Given the description of an element on the screen output the (x, y) to click on. 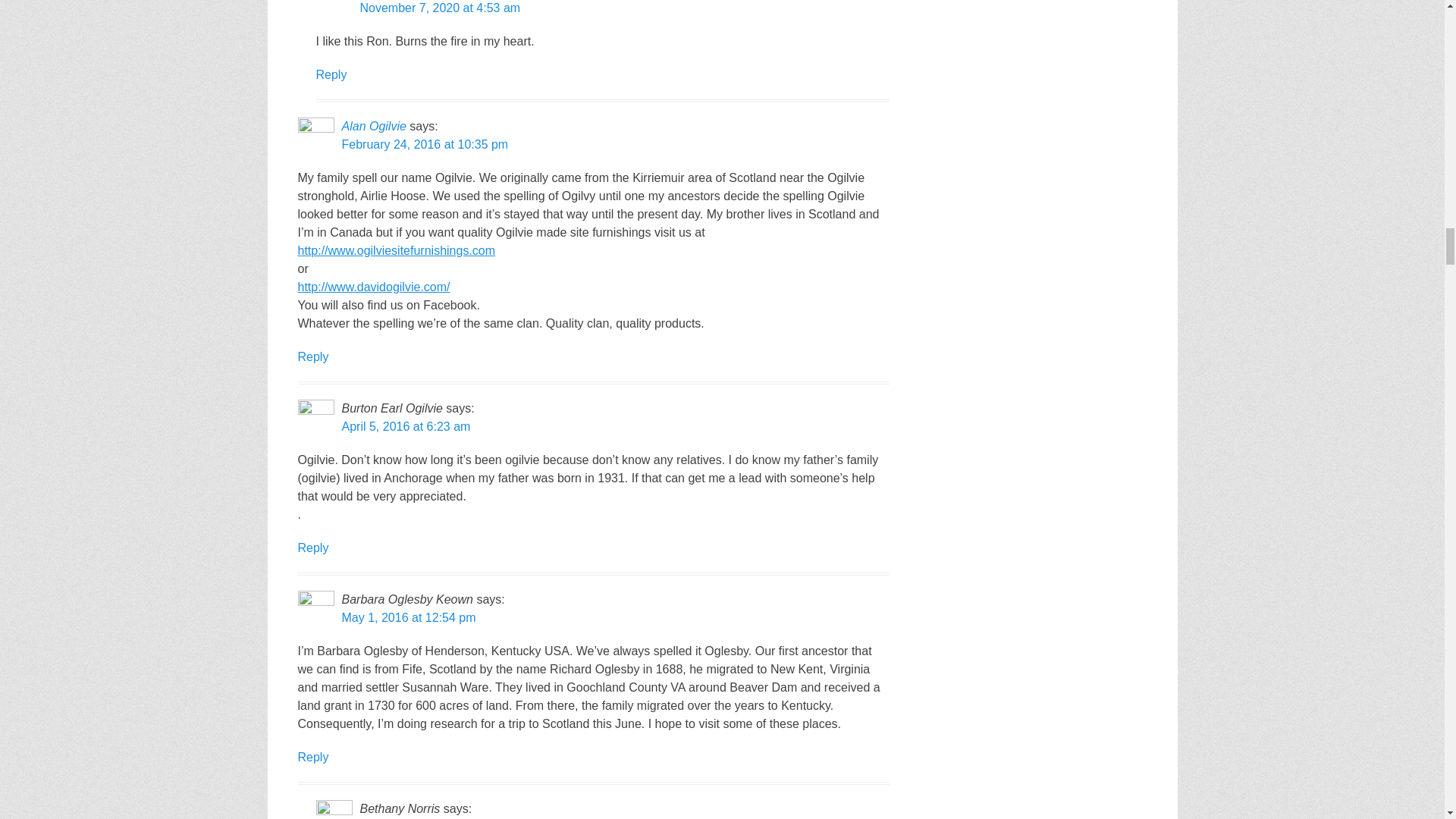
November 7, 2020 at 4:53 am (439, 7)
Reply (330, 74)
February 24, 2016 at 10:35 pm (424, 144)
Alan Ogilvie (373, 125)
